Given the description of an element on the screen output the (x, y) to click on. 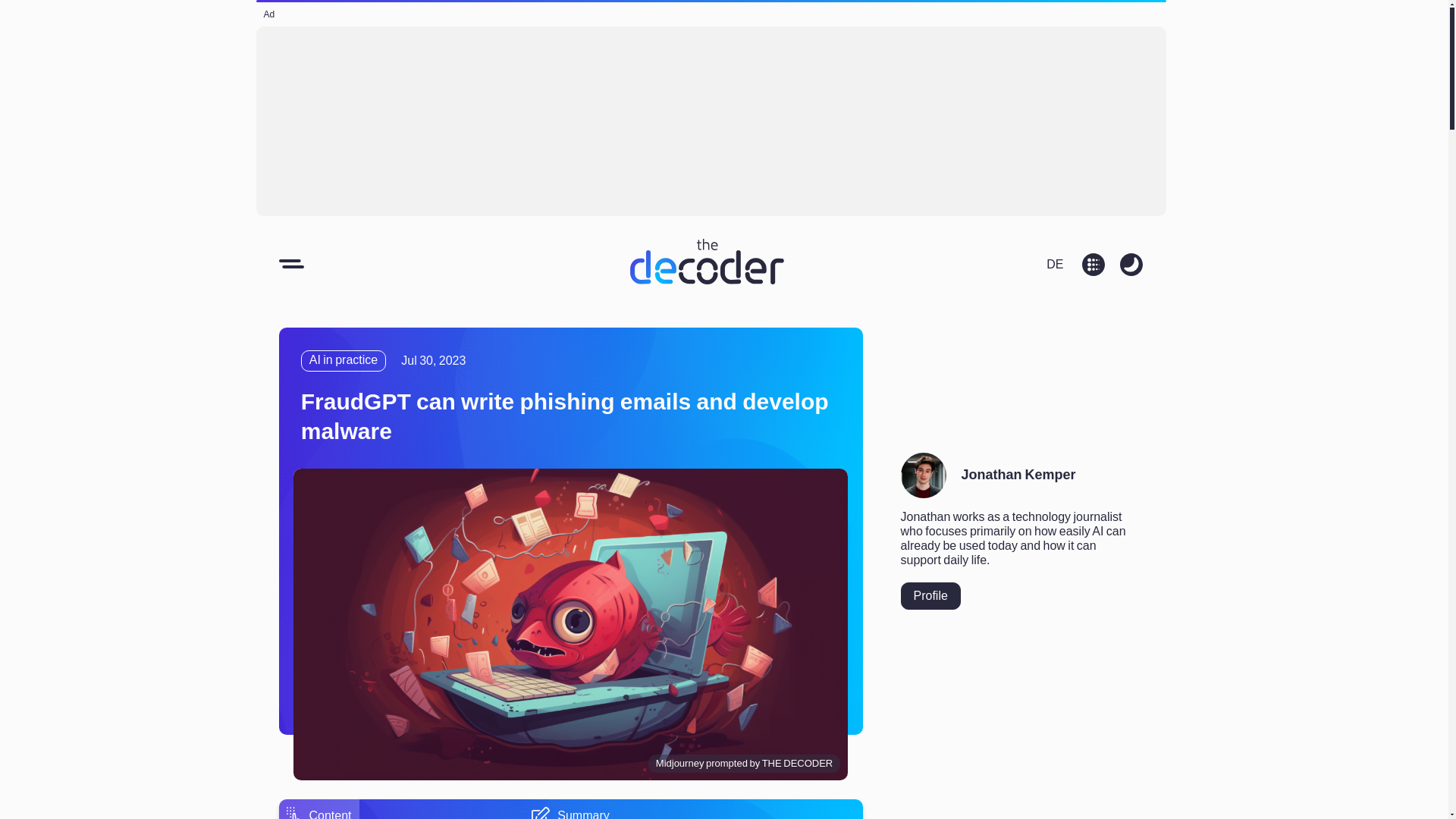
Profile (930, 595)
the-decoder.de (1054, 263)
DE (1054, 263)
Summary (569, 812)
AI in practice (343, 360)
Jonathan Kemper (1017, 475)
